Given the description of an element on the screen output the (x, y) to click on. 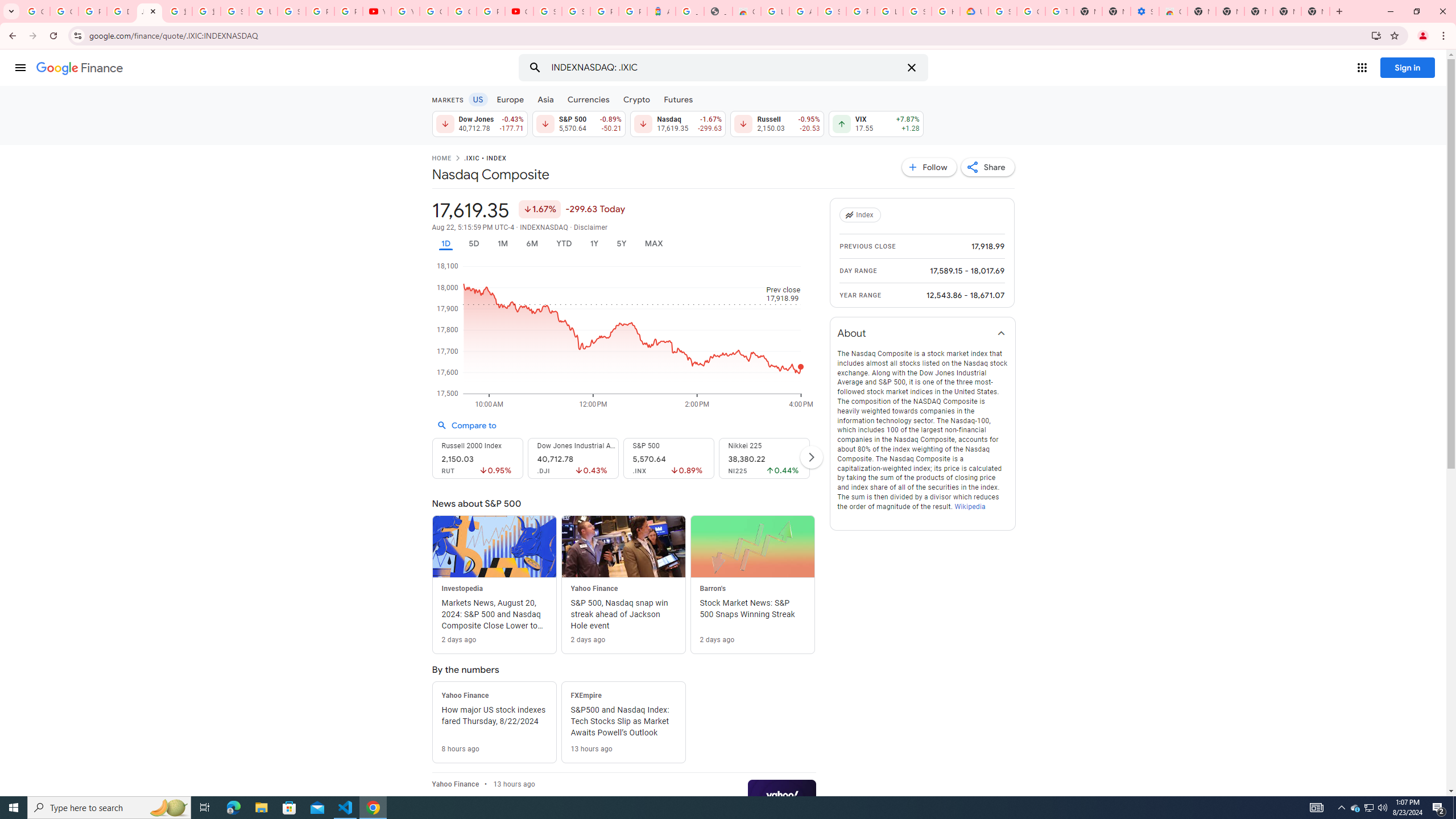
Google Account Help (1030, 11)
Google Workspace Admin Community (35, 11)
Search (534, 67)
New Tab (1315, 11)
Currencies (588, 99)
YouTube (405, 11)
Chrome Web Store - Accessibility extensions (1173, 11)
